Given the description of an element on the screen output the (x, y) to click on. 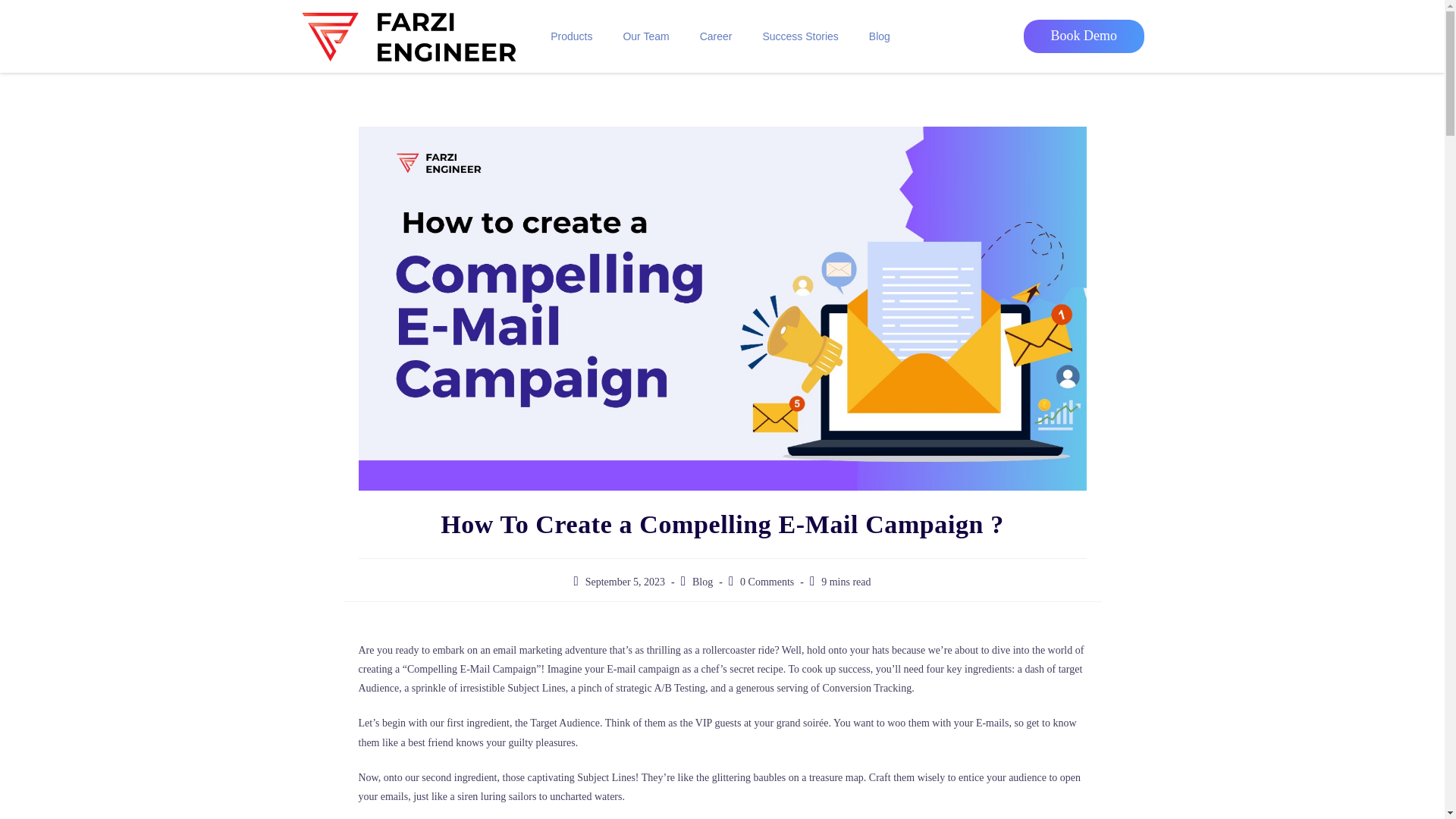
Book Demo (1083, 36)
Career (716, 36)
Products (571, 36)
Blog (879, 36)
Our Team (645, 36)
Success Stories (799, 36)
